Given the description of an element on the screen output the (x, y) to click on. 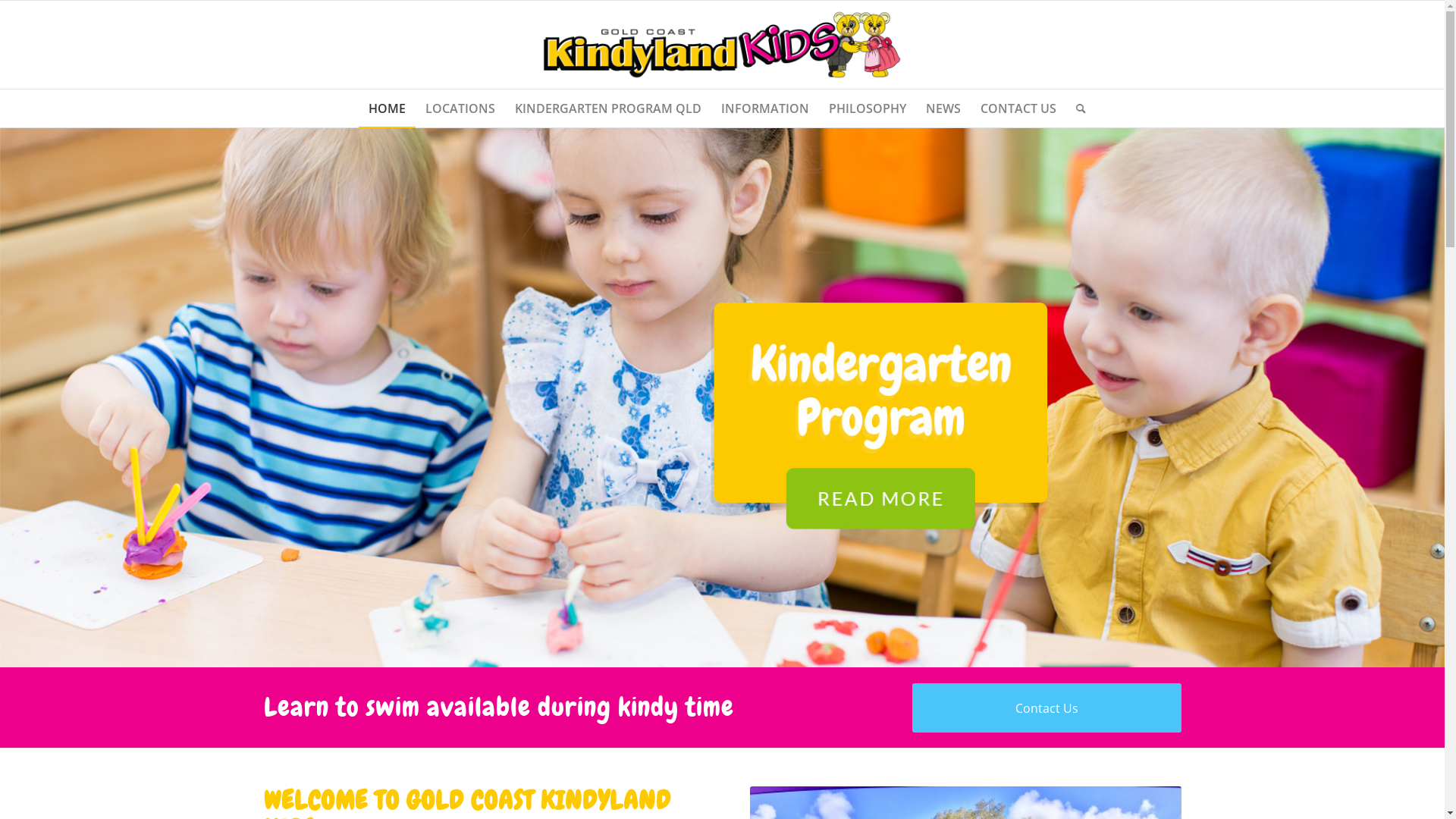
Learn to swim available during kindy time Element type: text (498, 707)
kindyland-kids Element type: hover (721, 44)
LOCATIONS Element type: text (460, 108)
NEWS Element type: text (943, 108)
KINDERGARTEN PROGRAM QLD Element type: text (608, 108)
CONTACT US Element type: text (1018, 108)
slide-1 Element type: hover (722, 397)
INFORMATION Element type: text (765, 108)
Contact Us Element type: text (1046, 707)
HOME Element type: text (386, 108)
PHILOSOPHY Element type: text (867, 108)
